Given the description of an element on the screen output the (x, y) to click on. 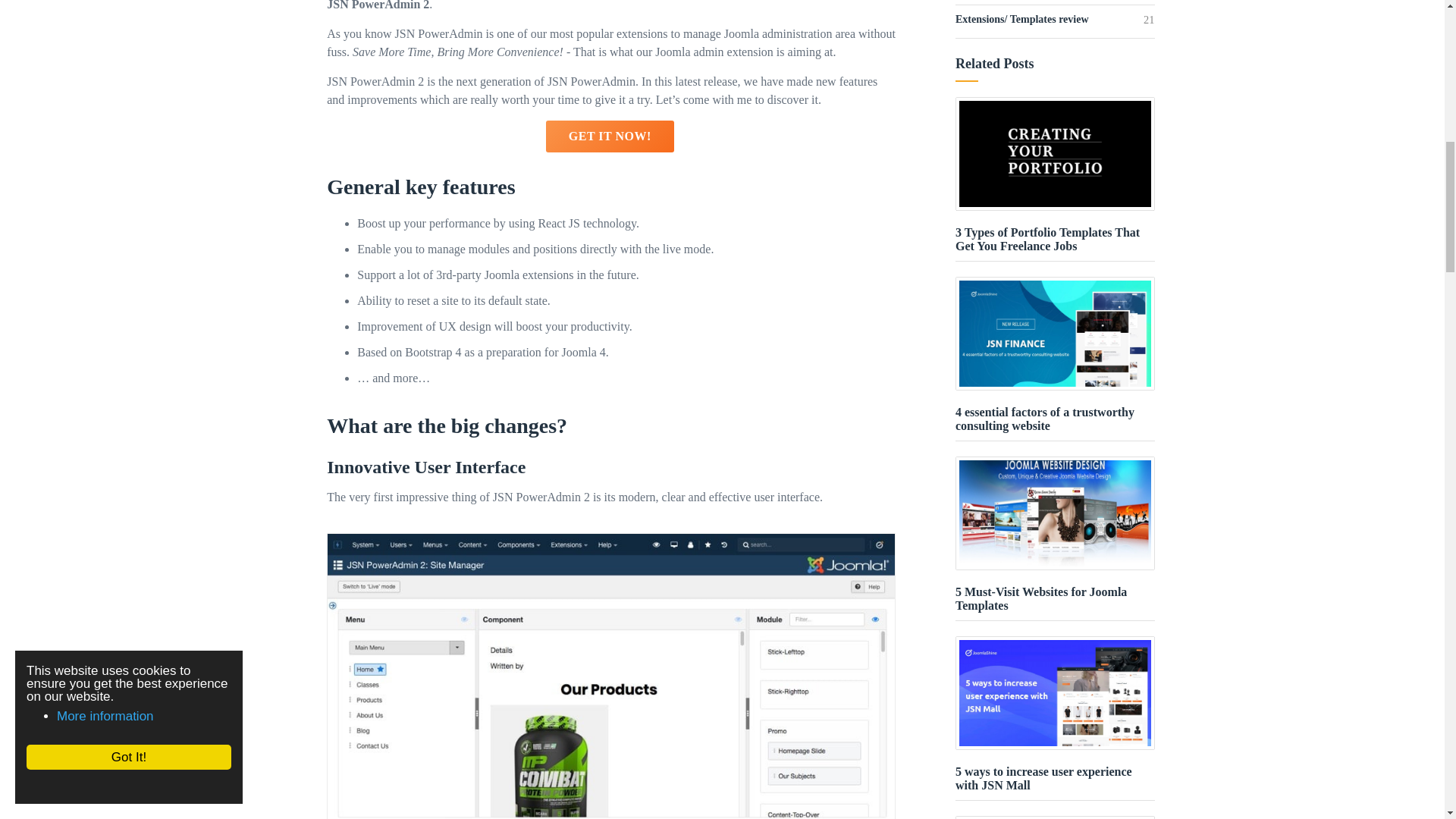
GET IT NOW! (610, 136)
